Given the description of an element on the screen output the (x, y) to click on. 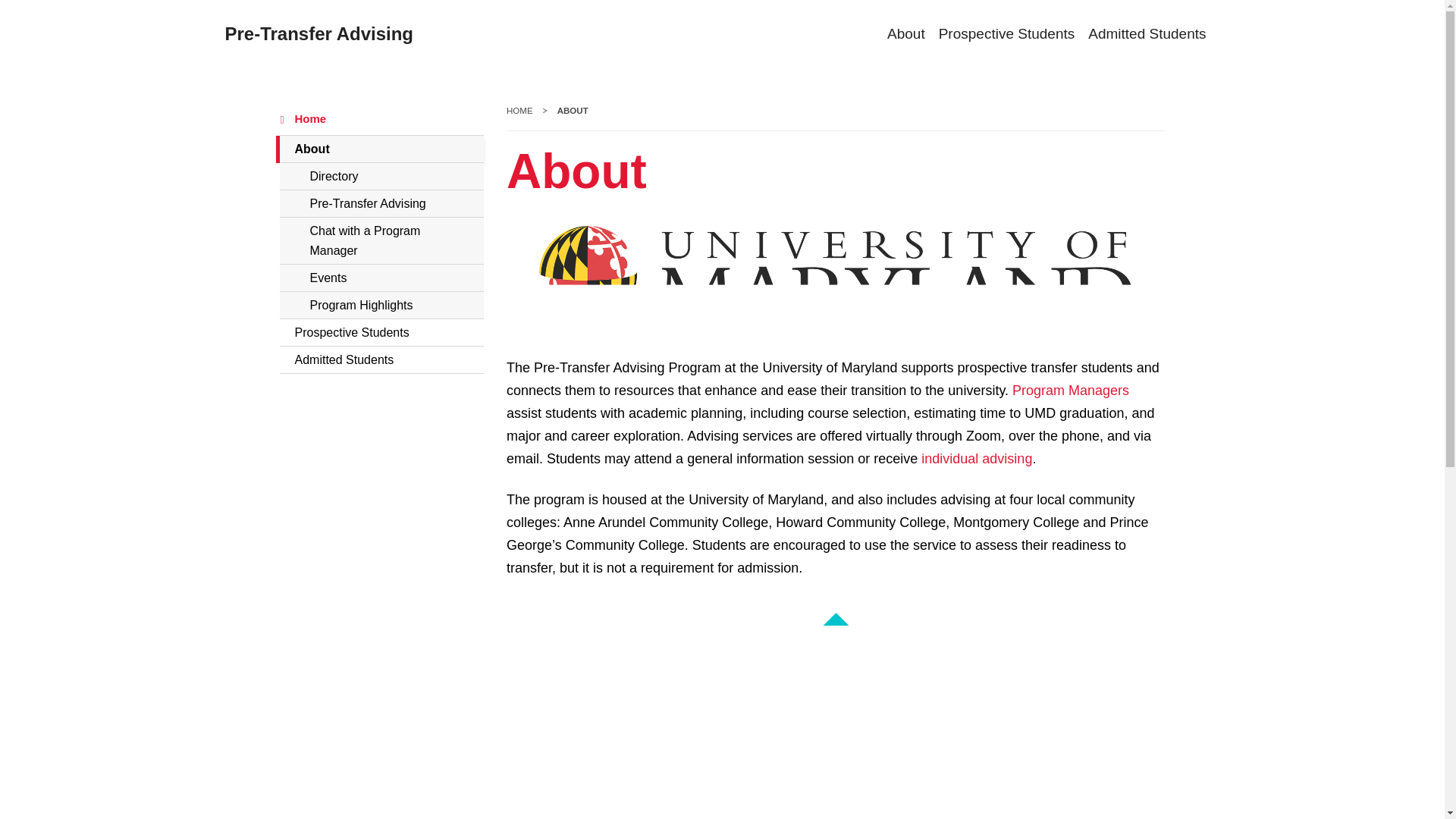
Prospective Students (381, 332)
Pre-Transfer Advising (318, 34)
Directory (381, 176)
Prospective Students (999, 34)
HOME (519, 110)
Admitted Students (381, 359)
Program Managers (1070, 390)
individual advising (976, 458)
Program Highlights (381, 305)
Chat with a Program Manager (381, 148)
Home (381, 240)
Events (381, 118)
Pre-Transfer Advising (381, 277)
